Given the description of an element on the screen output the (x, y) to click on. 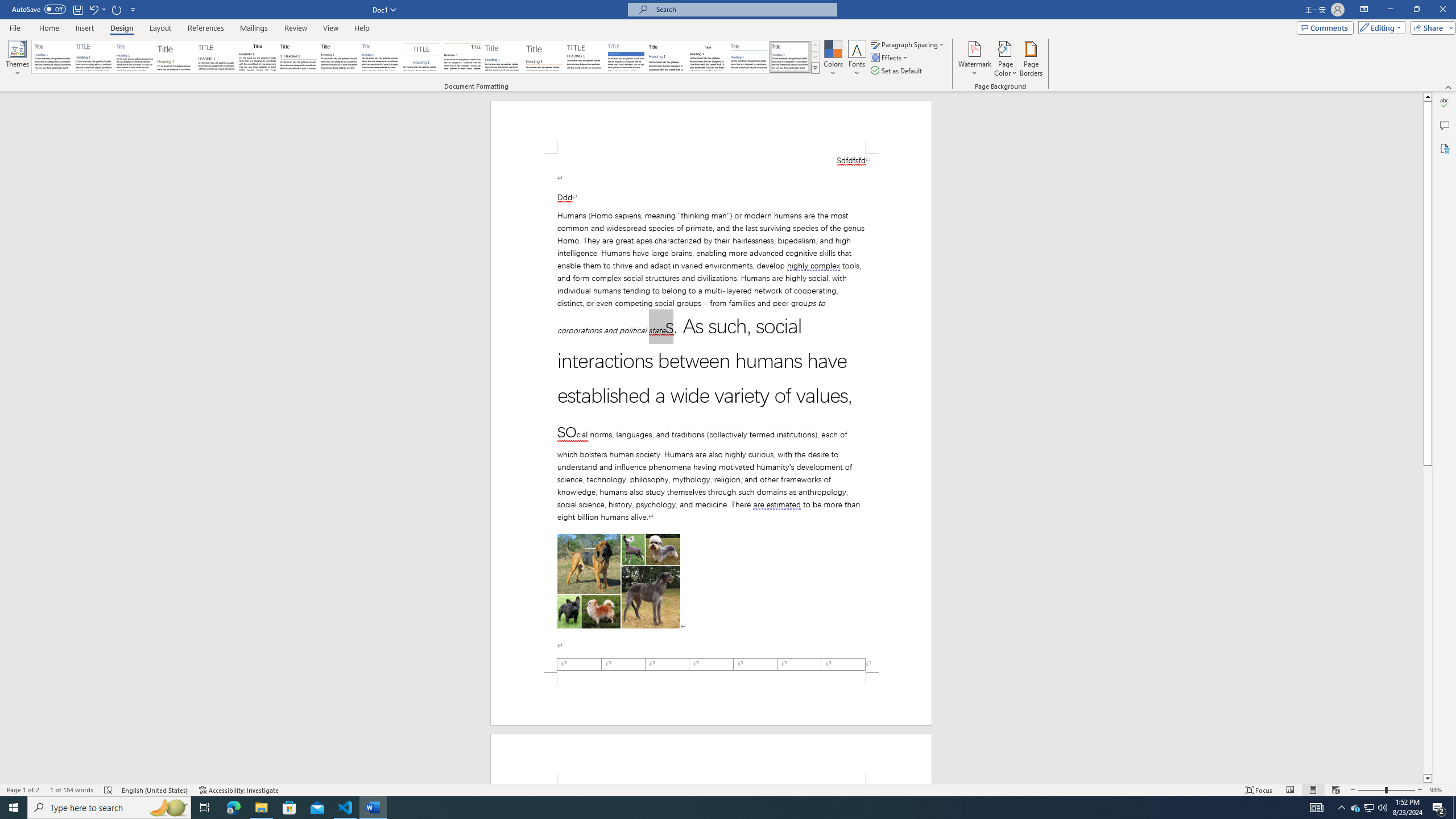
Minimize (1390, 9)
Save (77, 9)
Close (1442, 9)
Microsoft search (742, 9)
Word (666, 56)
Word 2010 (749, 56)
Basic (Simple) (135, 56)
Colors (832, 58)
Focus  (1258, 790)
Class: NetUIImage (815, 68)
Morphological variation in six dogs (618, 580)
Help (361, 28)
Zoom Out (1371, 790)
Header -Section 1- (710, 758)
Word 2003 (707, 56)
